Given the description of an element on the screen output the (x, y) to click on. 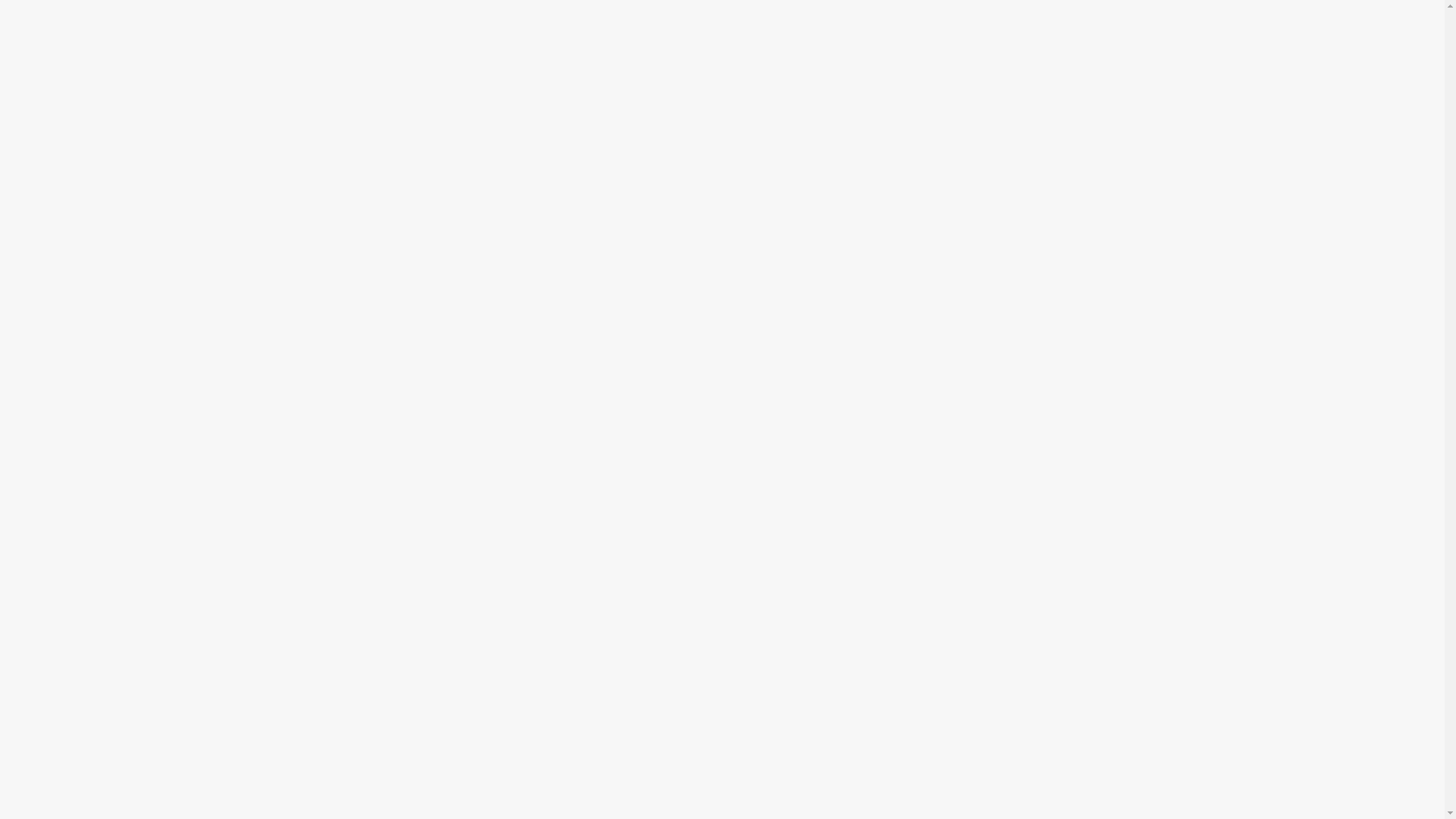
Datenschutz Element type: text (131, 761)
Impressum Element type: text (233, 761)
Mail Element type: text (50, 761)
